Given the description of an element on the screen output the (x, y) to click on. 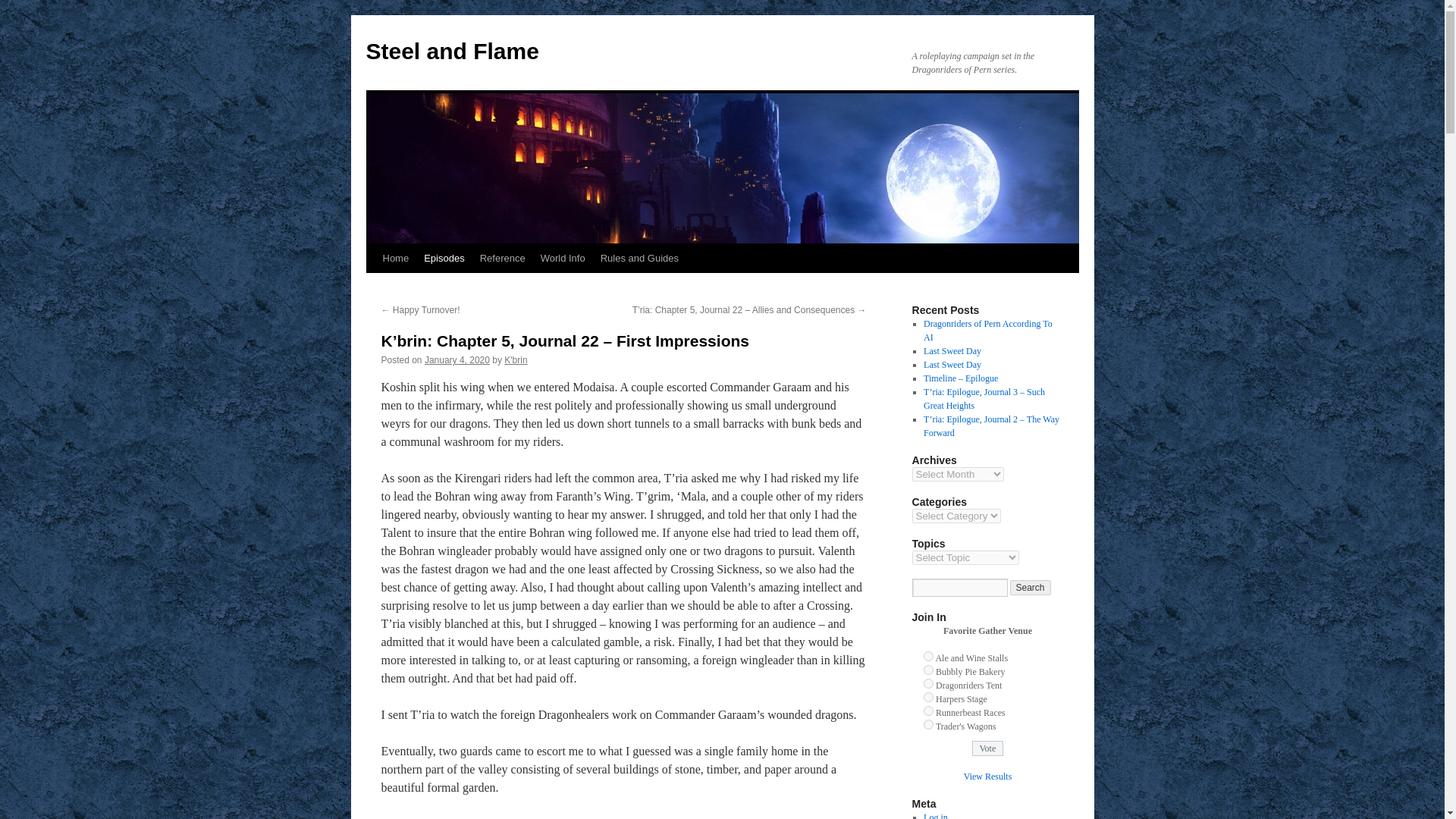
Rules and Guides (638, 258)
71 (928, 710)
69 (928, 683)
Steel and Flame (451, 50)
68 (928, 669)
Steel and Flame (451, 50)
Home (395, 258)
67 (928, 655)
Reference (501, 258)
72 (928, 724)
World Info (562, 258)
Search (1030, 587)
   Vote    (988, 748)
70 (928, 696)
